Given the description of an element on the screen output the (x, y) to click on. 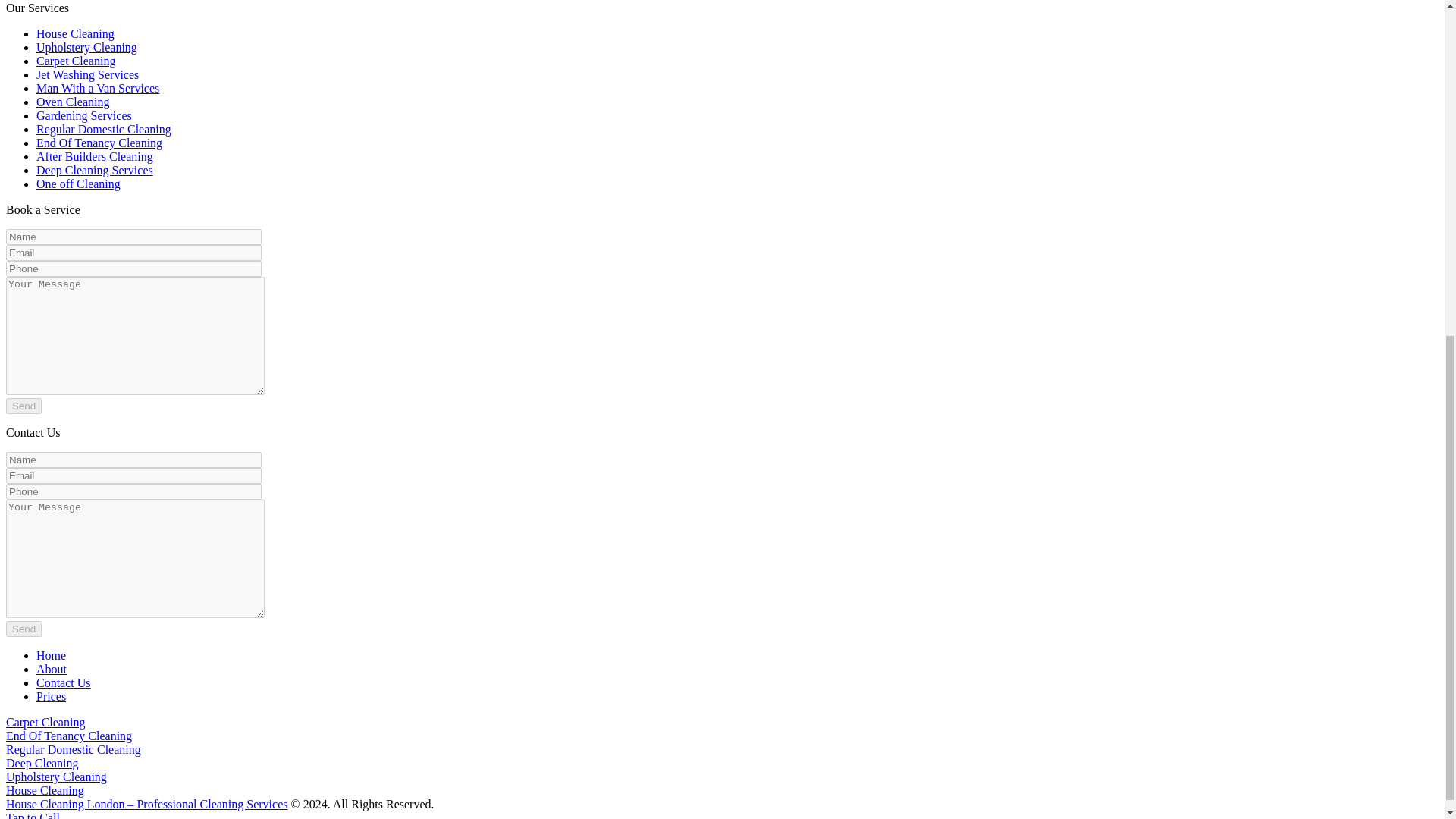
Man With a Van Services (97, 88)
Carpet Cleaning (44, 721)
After Builders Cleaning (94, 155)
Send (23, 406)
Contact Us (63, 682)
House Cleaning (44, 789)
Upholstery Cleaning (86, 47)
End Of Tenancy Cleaning (68, 735)
Regular Domestic Cleaning (73, 748)
Deep Cleaning Services (94, 169)
